Given the description of an element on the screen output the (x, y) to click on. 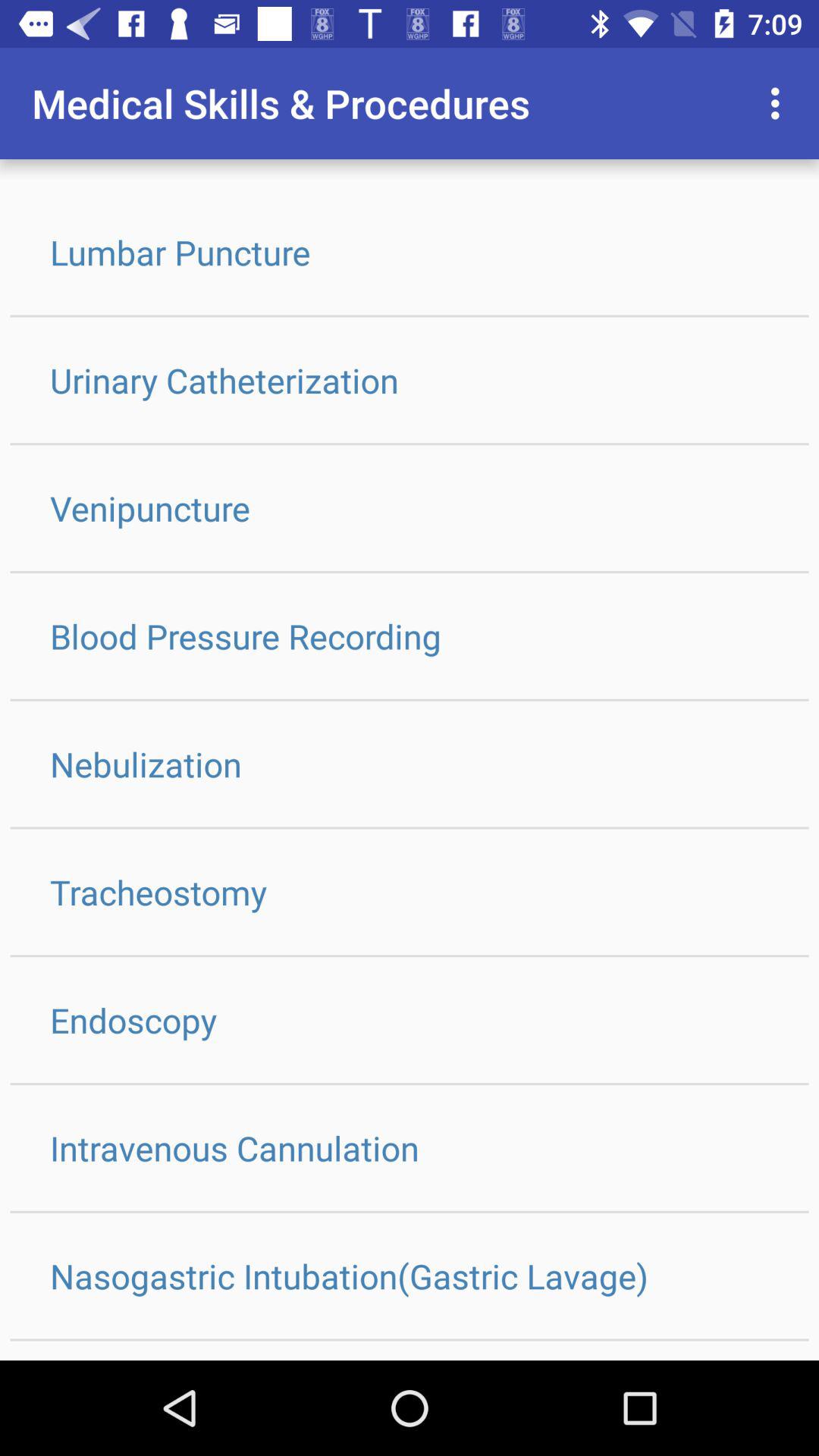
launch blood pressure recording icon (409, 635)
